Given the description of an element on the screen output the (x, y) to click on. 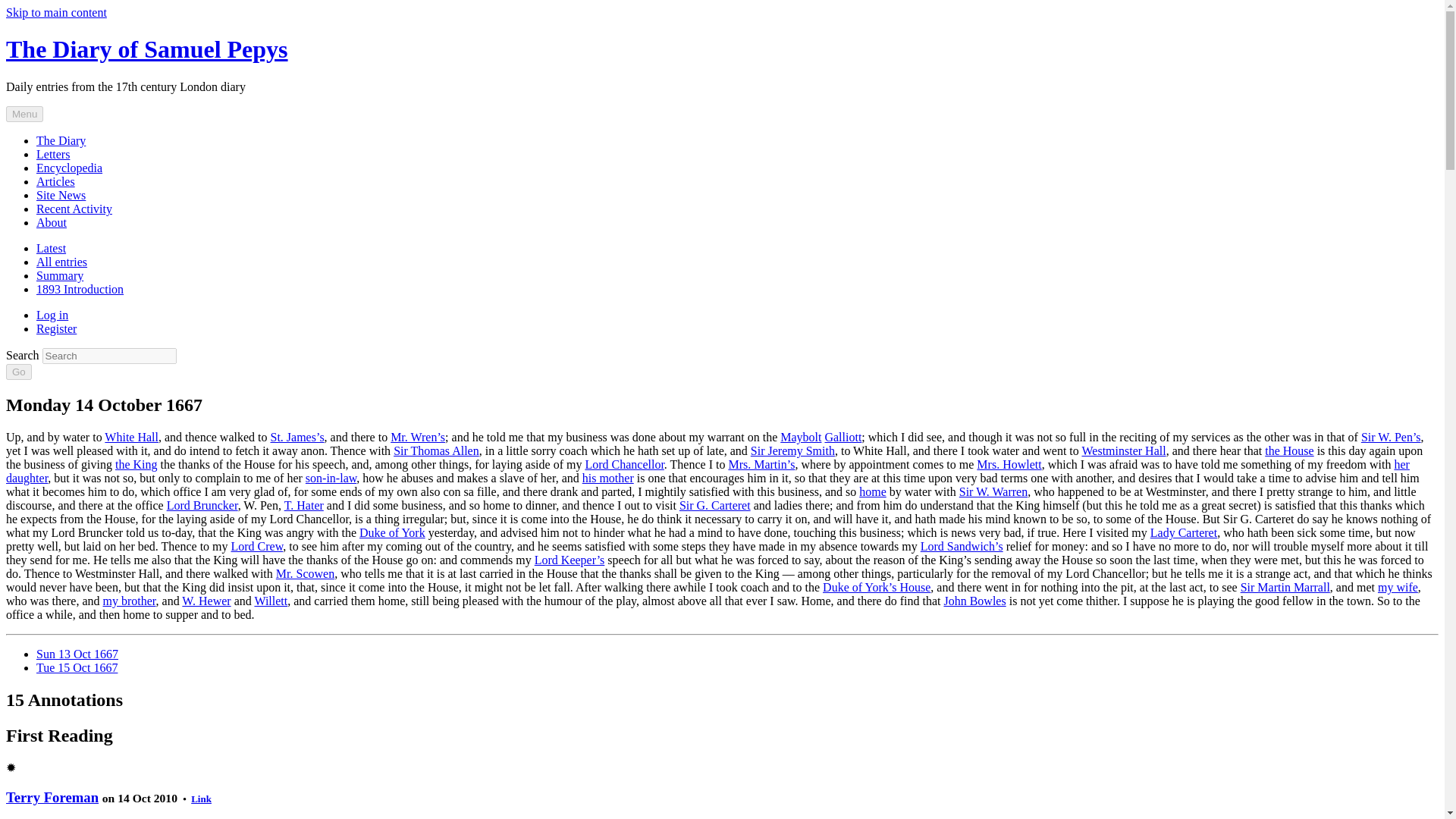
Latest (50, 247)
Summary (59, 275)
the King (136, 463)
Site News (60, 195)
Register (56, 328)
White Hall (131, 436)
Menu (24, 114)
Sir Thomas Allen (436, 450)
Lord Chancellor (624, 463)
See more about this person (52, 797)
the House (1289, 450)
Encyclopedia (68, 167)
Sir Jeremy Smith (792, 450)
To the front page (146, 49)
Maybolt (800, 436)
